Given the description of an element on the screen output the (x, y) to click on. 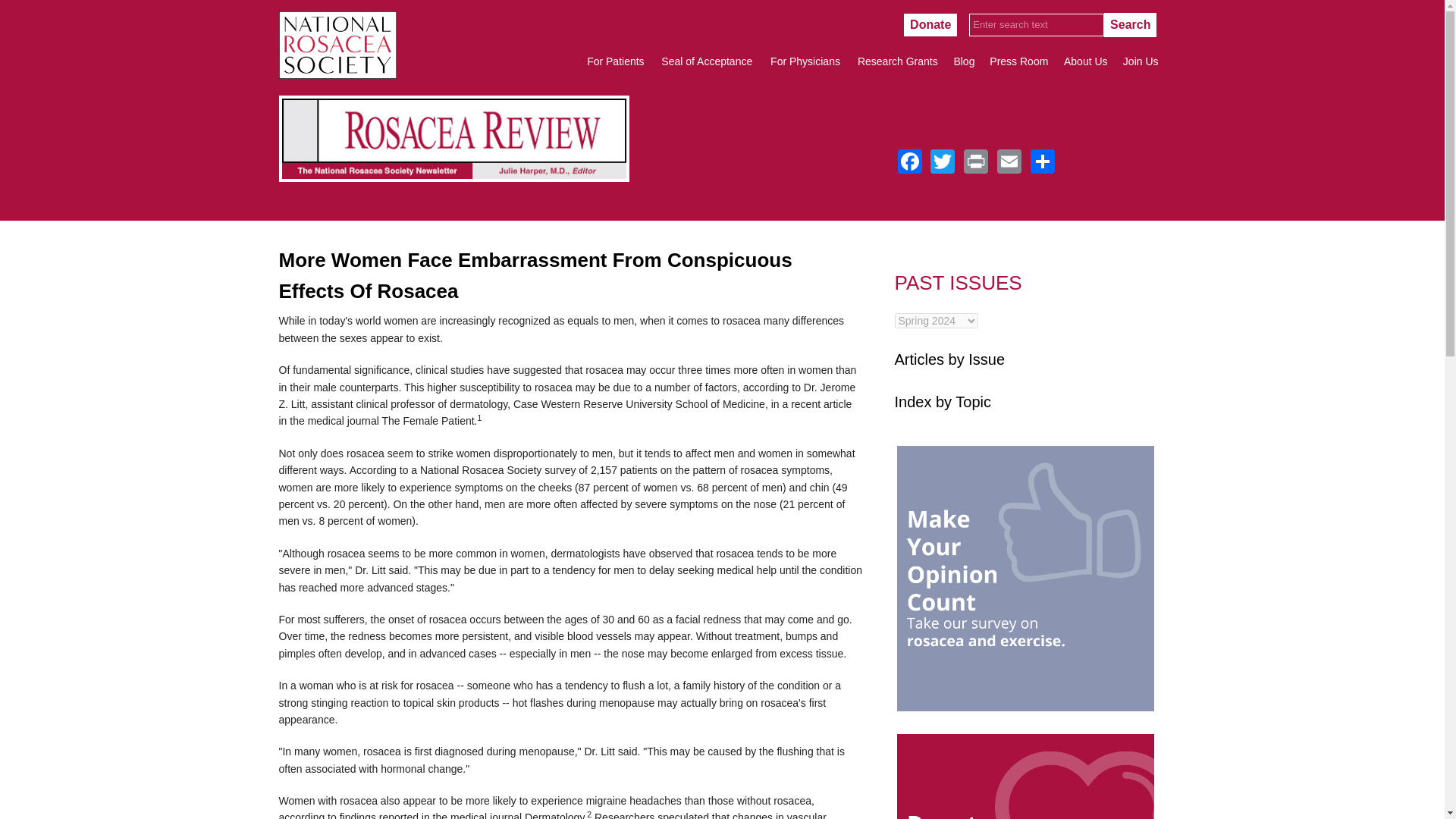
Home (337, 74)
Search (1129, 24)
For Patients (615, 61)
